Given the description of an element on the screen output the (x, y) to click on. 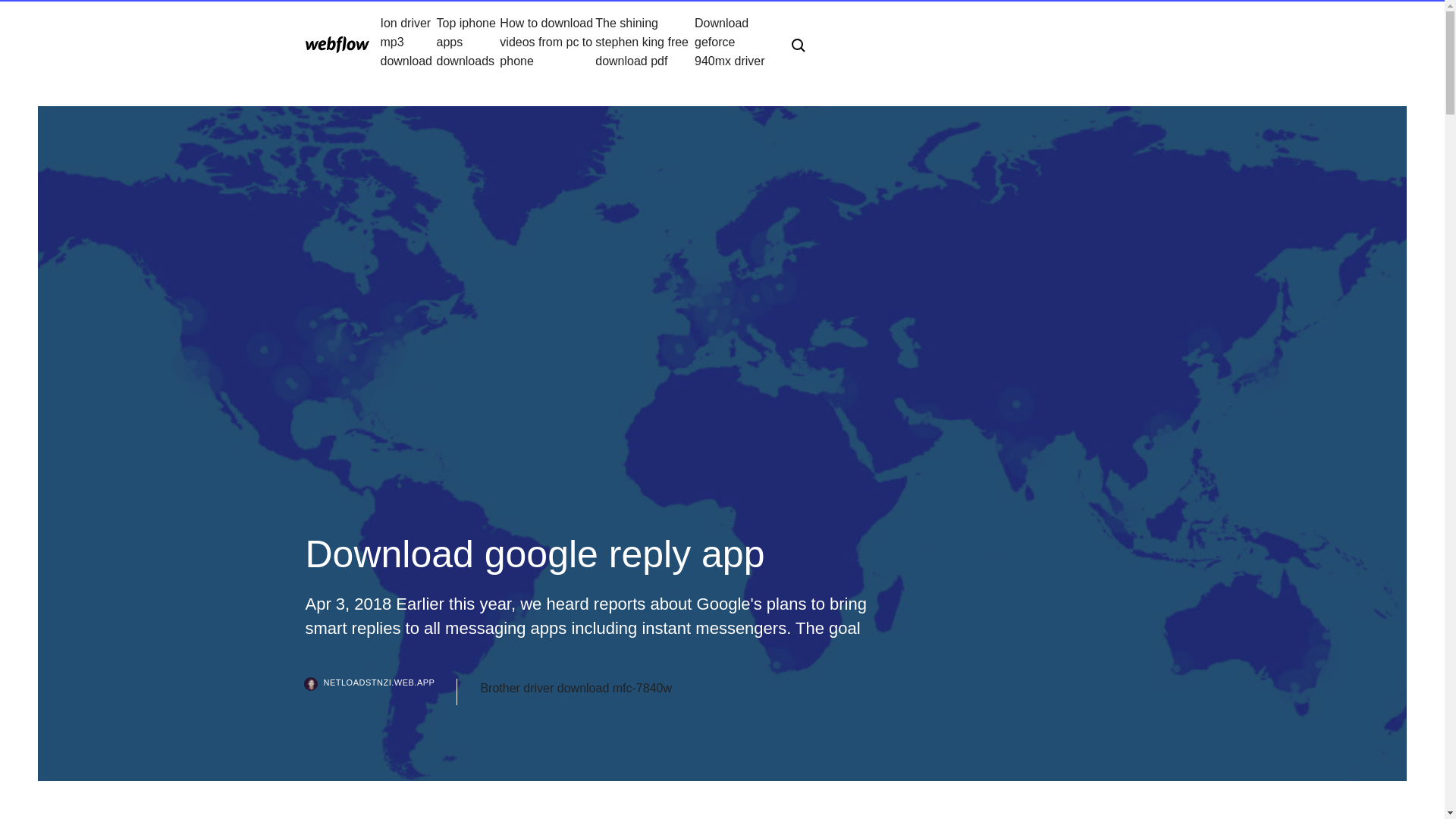
NETLOADSTNZI.WEB.APP (380, 691)
Brother driver download mfc-7840w (575, 687)
Download geforce 940mx driver (730, 41)
Top iphone apps downloads (468, 41)
Ion driver mp3 download (408, 41)
How to download videos from pc to phone (547, 41)
The shining stephen king free download pdf (644, 41)
